Given the description of an element on the screen output the (x, y) to click on. 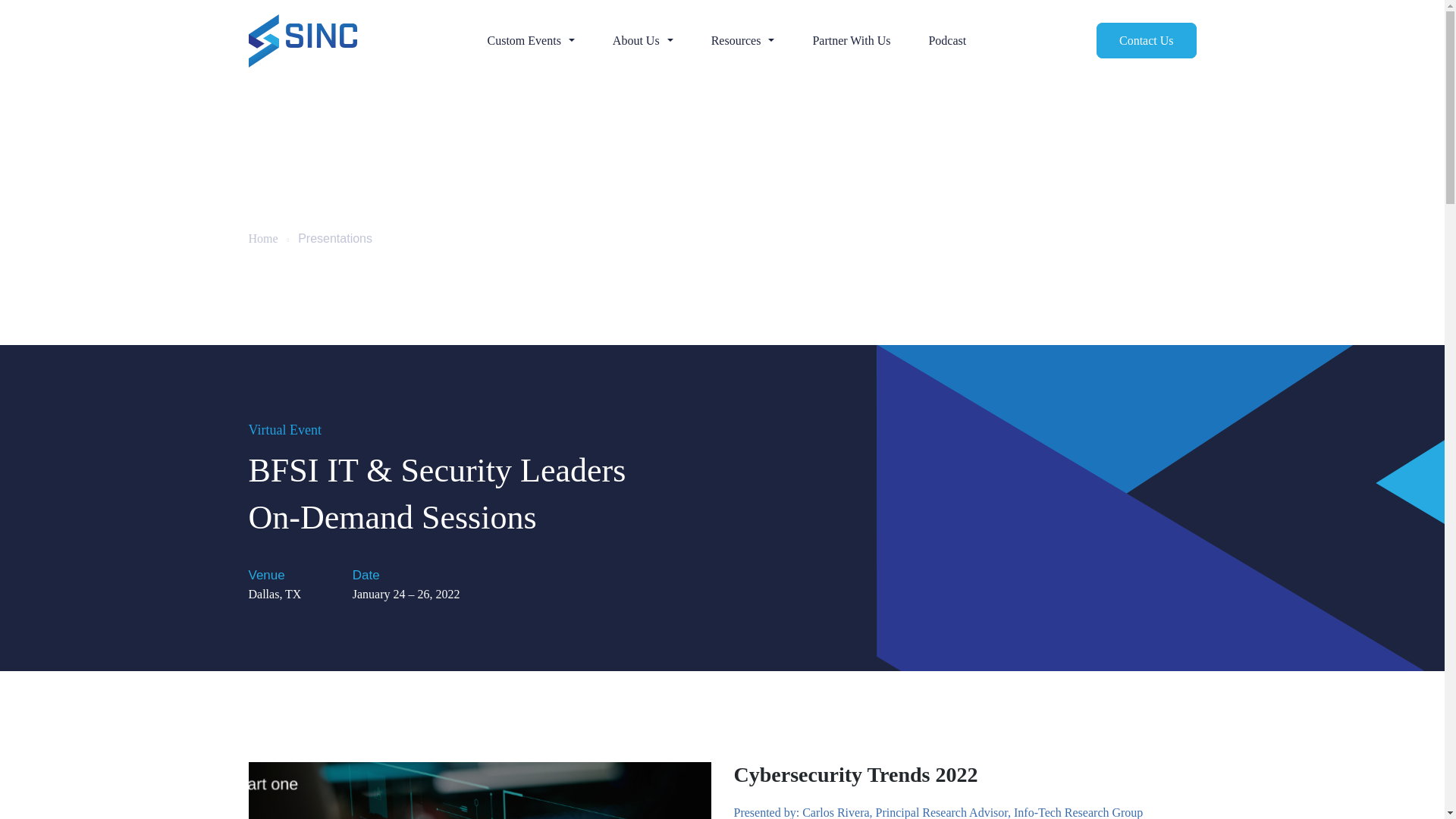
Custom Events (531, 40)
Podcast (946, 40)
Custom Events (531, 40)
Resources (743, 40)
Contact Us (1146, 40)
Home (263, 237)
About Us (643, 40)
About Us (643, 40)
Resources (743, 40)
Partner With Us (850, 40)
